Given the description of an element on the screen output the (x, y) to click on. 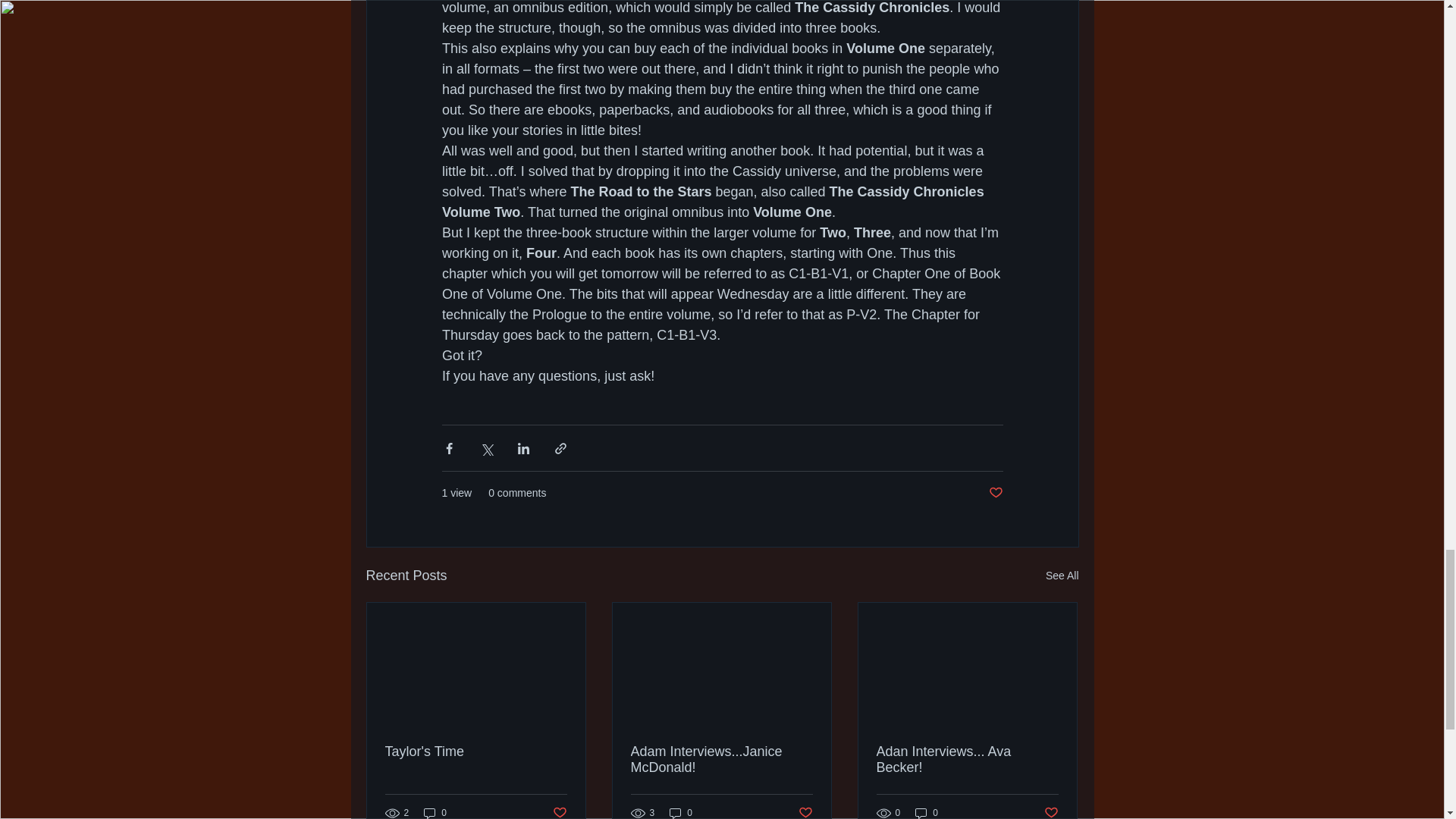
Post not marked as liked (558, 812)
Adam Interviews...Janice McDonald! (721, 759)
0 (681, 812)
See All (1061, 576)
Taylor's Time (476, 751)
Post not marked as liked (804, 812)
Post not marked as liked (995, 493)
Adan Interviews... Ava Becker! (967, 759)
0 (435, 812)
